Given the description of an element on the screen output the (x, y) to click on. 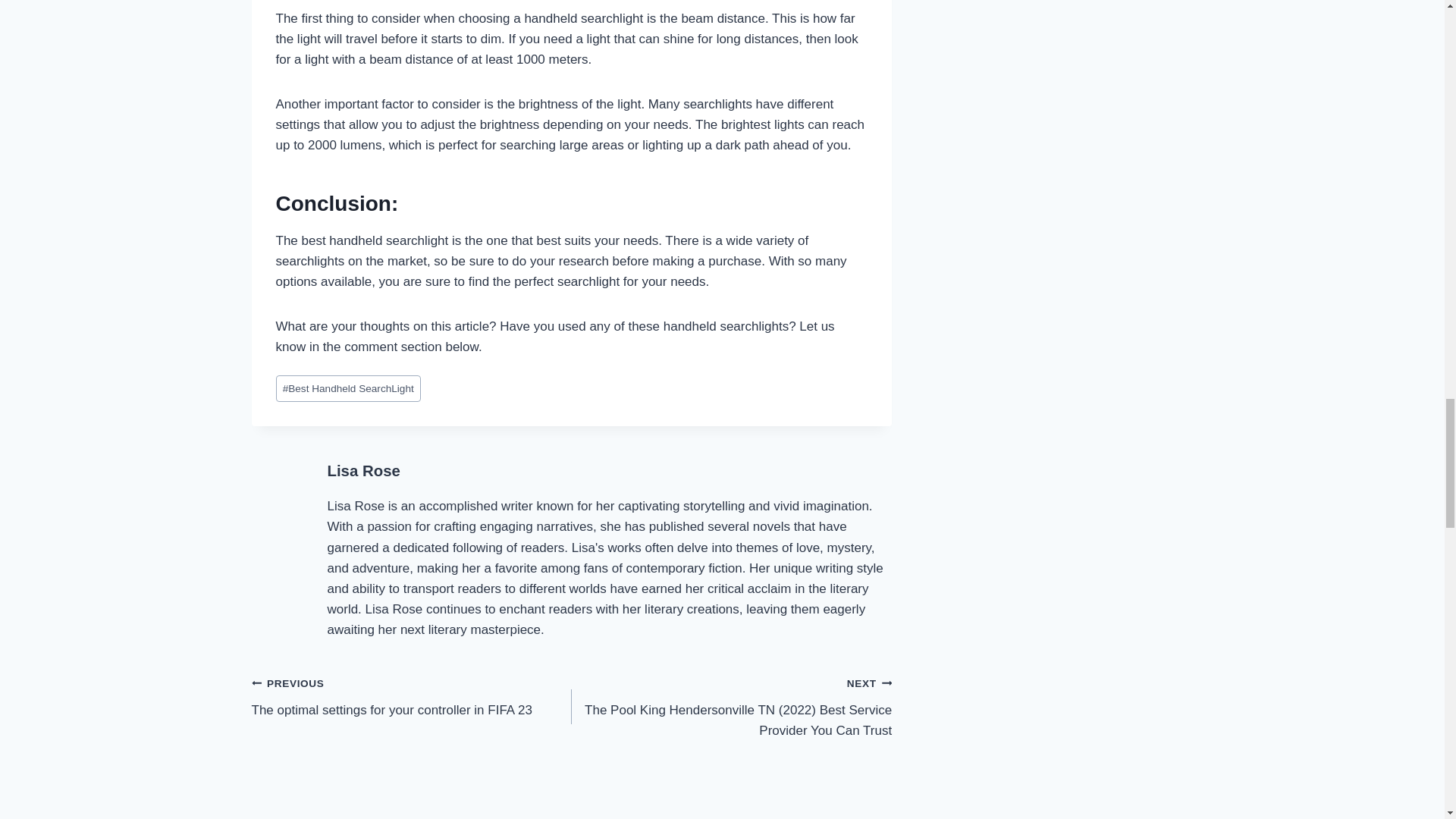
Lisa Rose (363, 470)
Posts by Lisa Rose (363, 470)
Best Handheld SearchLight (348, 388)
